Given the description of an element on the screen output the (x, y) to click on. 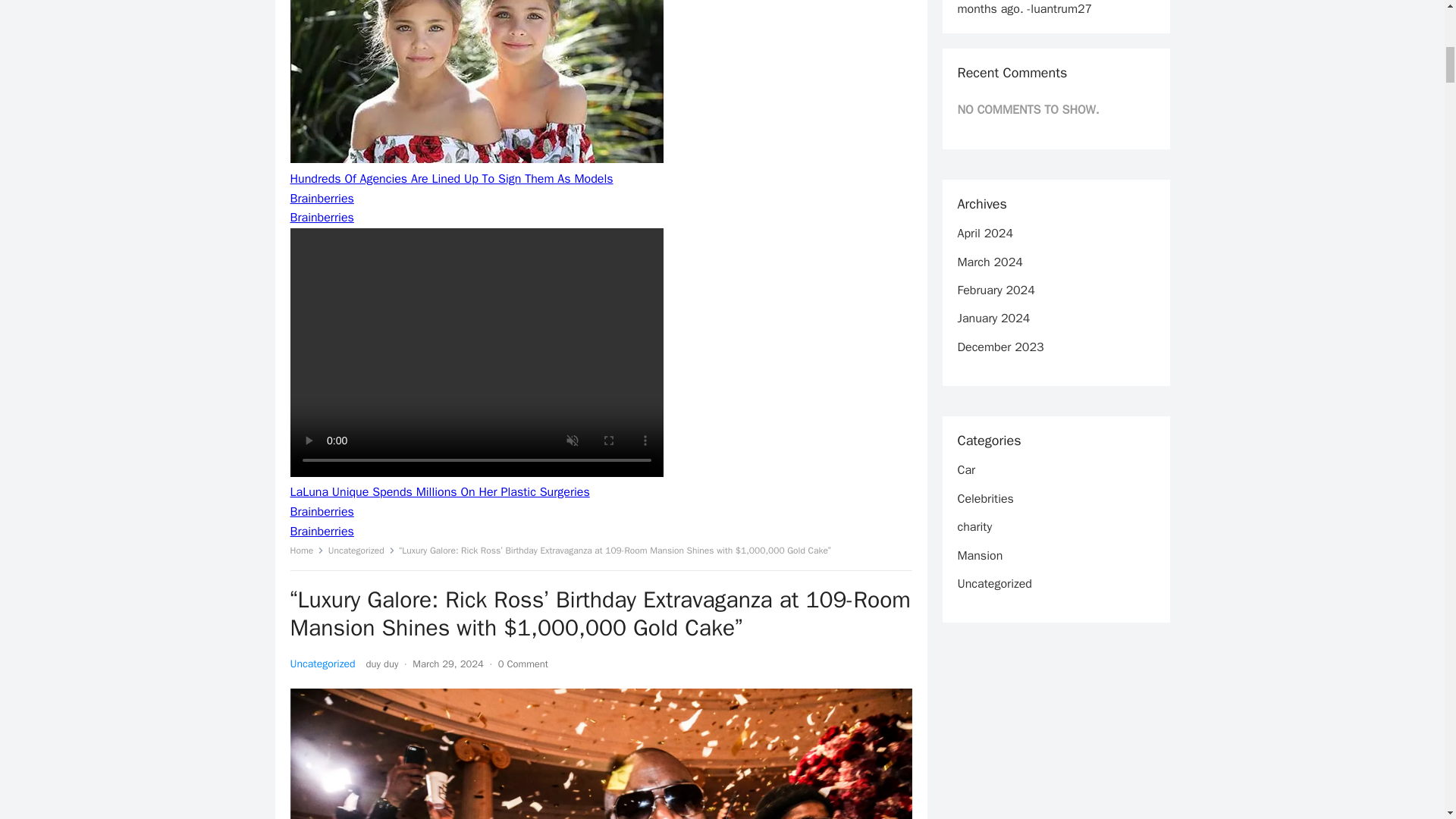
Home (306, 550)
duy duy (382, 663)
Uncategorized (322, 663)
Uncategorized (361, 550)
Posts by duy duy (382, 663)
0 Comment (522, 663)
